Given the description of an element on the screen output the (x, y) to click on. 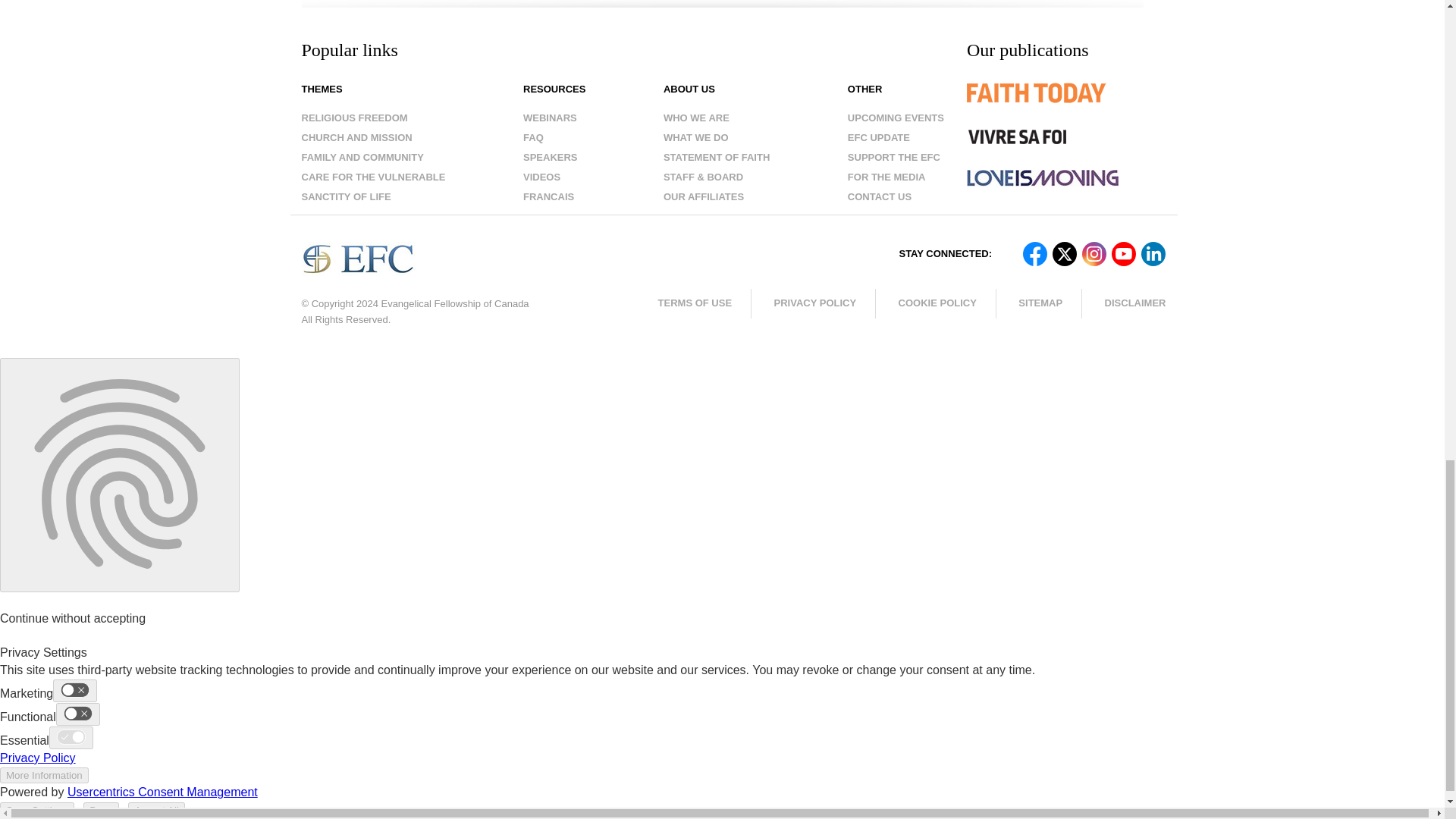
Love Is Moving (1042, 177)
Faith Today Magazine (1066, 103)
